Given the description of an element on the screen output the (x, y) to click on. 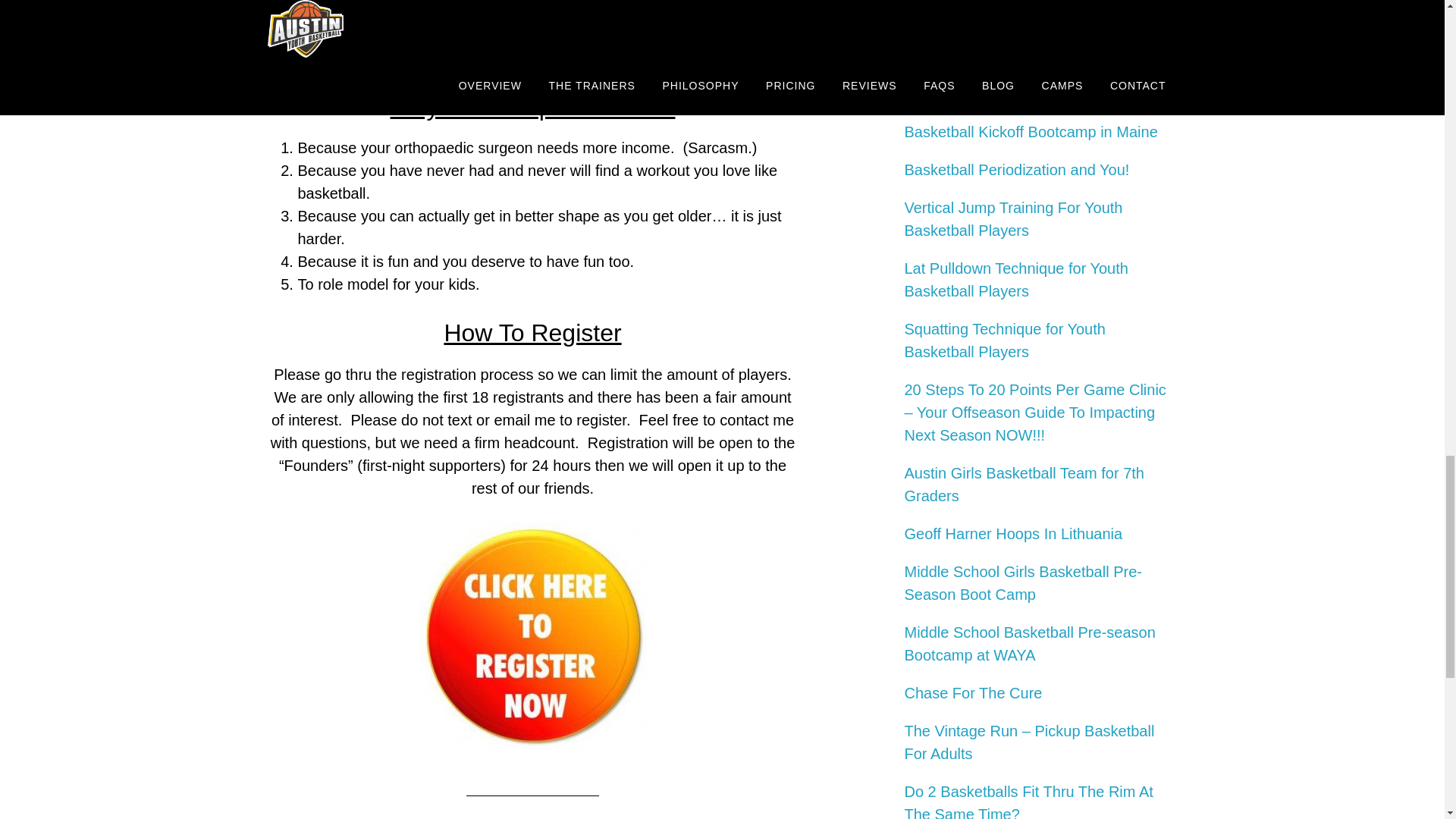
Basketball Kickoff Bootcamp in Maine (1030, 131)
Boys Middle School Basketball Tryouts Bootcamp Clinic (1035, 82)
Squatting Technique for Youth Basketball Players (1004, 340)
Basketball Periodization and You! (1016, 169)
Vertical Jump Training For Youth Basketball Players (1013, 219)
Lat Pulldown Technique for Youth Basketball Players (1015, 279)
AUSTIN CHRISTMAS BASKETBALL CAMP 2023 (1028, 21)
